Given the description of an element on the screen output the (x, y) to click on. 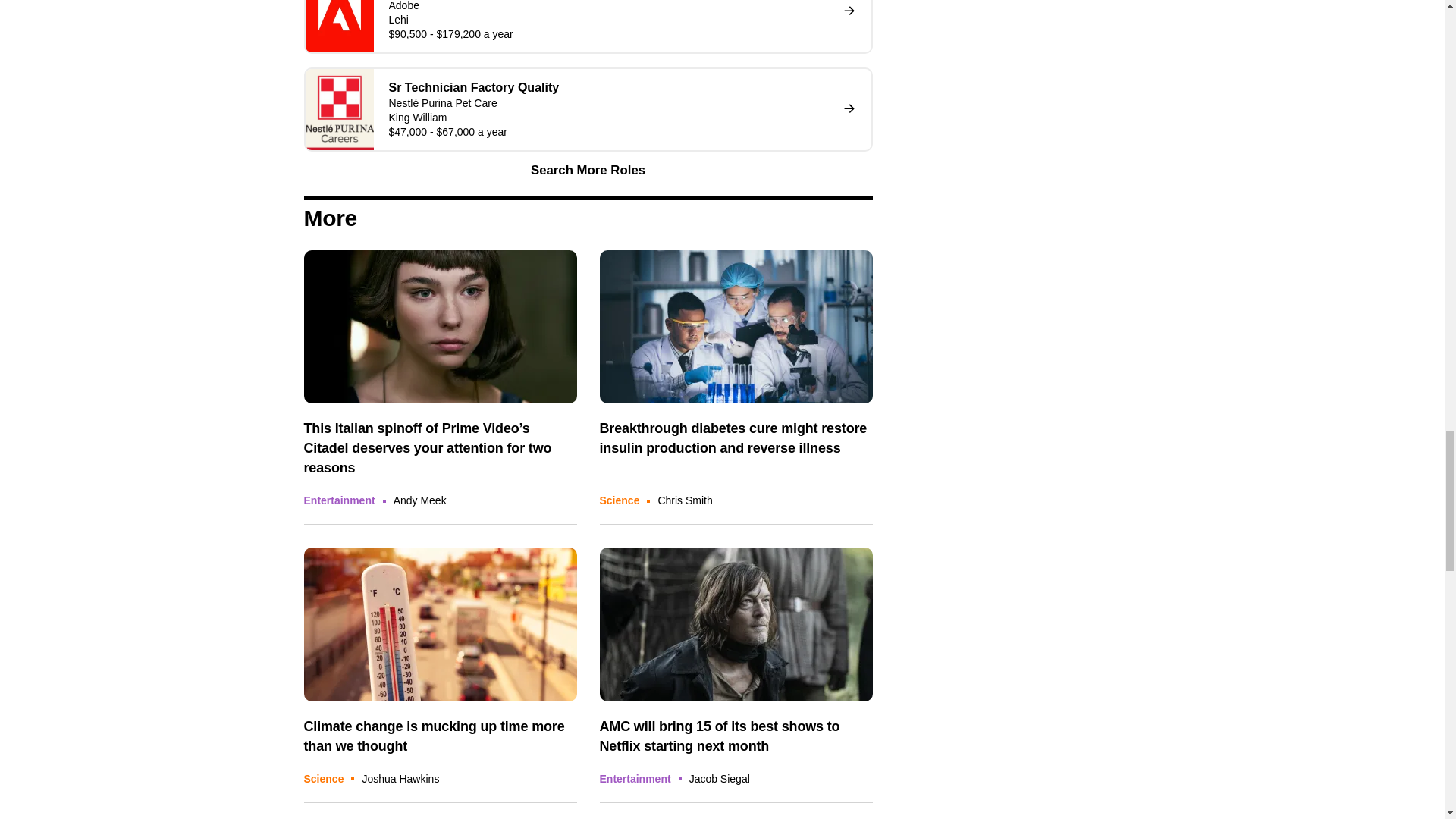
Posts by Andy Meek (419, 500)
AMC (735, 624)
Diabetes Cure (735, 327)
Posts by Jacob Siegal (718, 778)
Citadel (439, 327)
Posts by Chris Smith (684, 500)
climate change effect on time (439, 624)
Posts by Joshua Hawkins (400, 778)
